Given the description of an element on the screen output the (x, y) to click on. 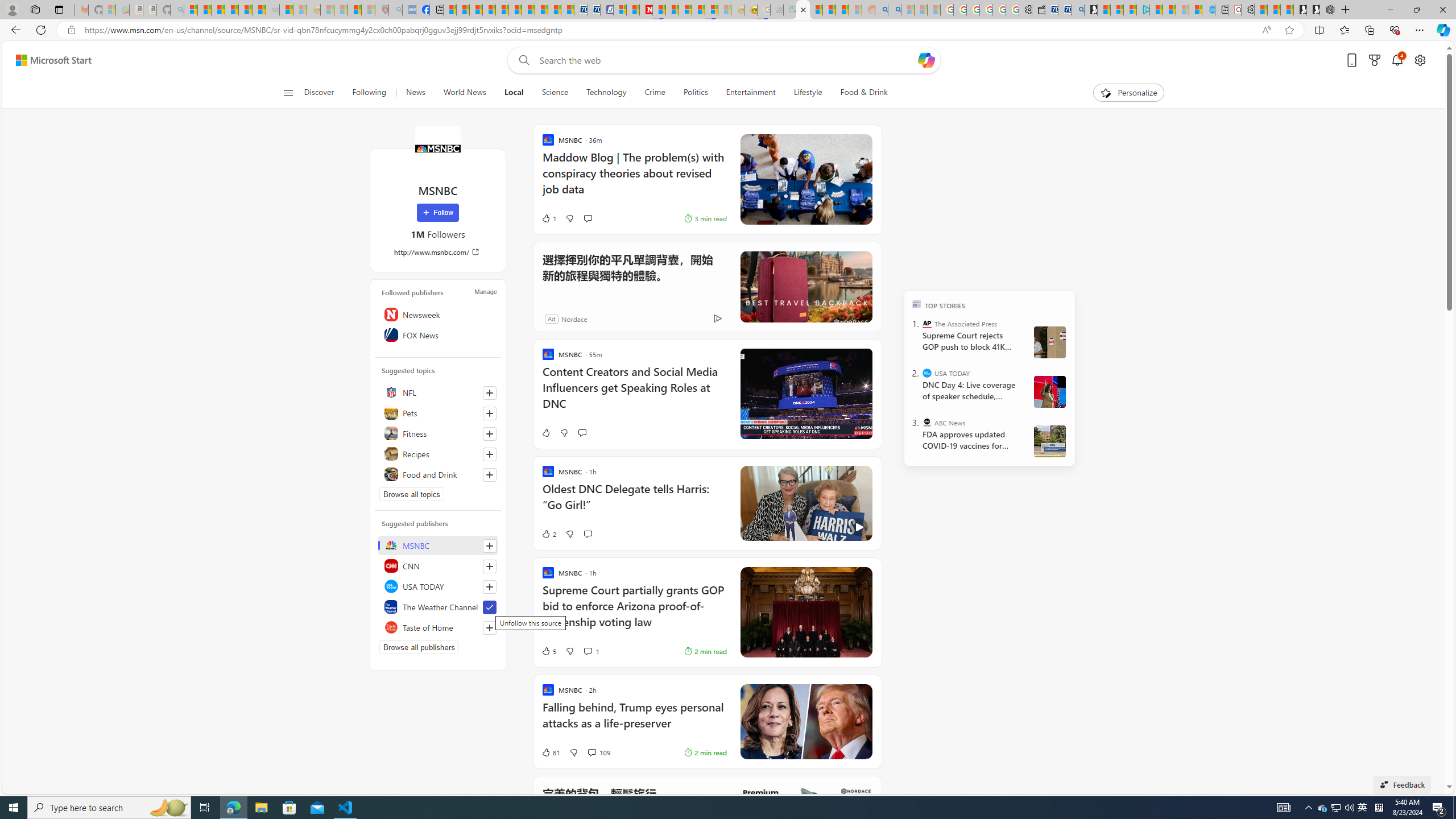
Follow this source (489, 627)
TOP (916, 302)
Climate Damage Becomes Too Severe To Reverse (488, 9)
